Given the description of an element on the screen output the (x, y) to click on. 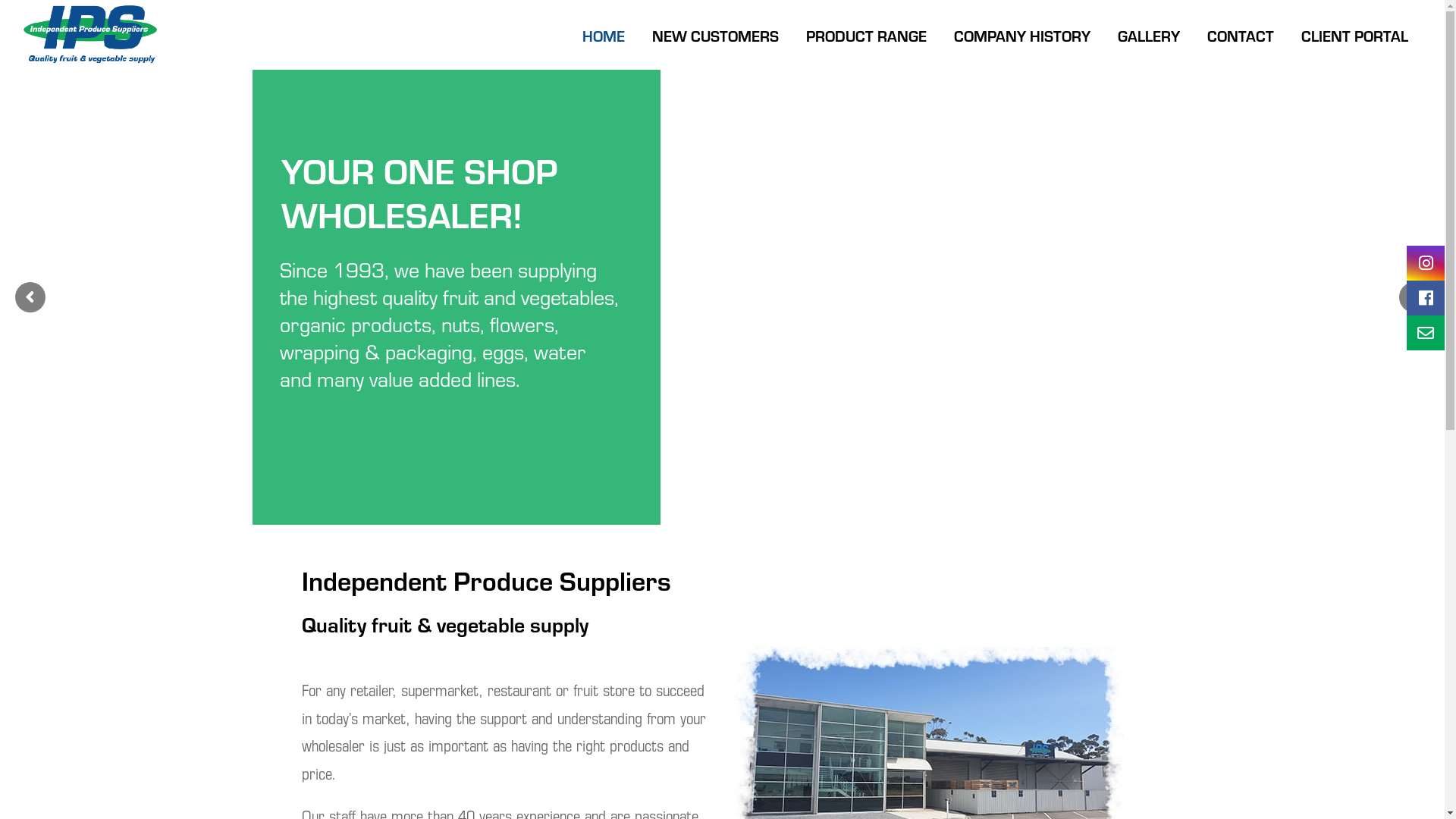
Quality Fruit and Vegetable supply Element type: hover (89, 34)
HOME Element type: text (603, 34)
GALLERY Element type: text (1148, 34)
COMPANY HISTORY Element type: text (1022, 34)
CLIENT PORTAL Element type: text (1354, 34)
NEW CUSTOMERS Element type: text (715, 34)
CONTACT Element type: text (1240, 34)
PRODUCT RANGE Element type: text (866, 34)
